Given the description of an element on the screen output the (x, y) to click on. 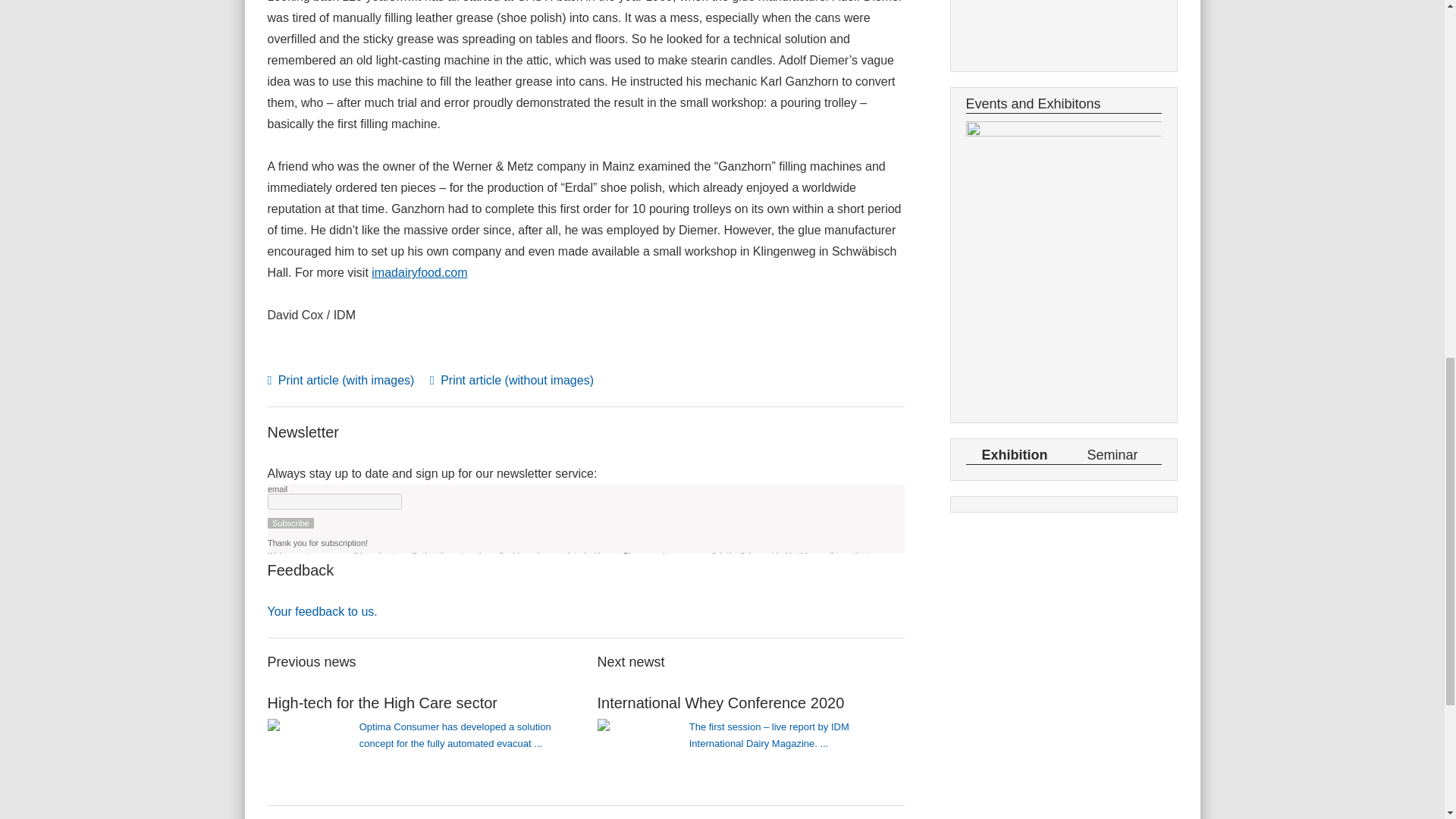
imadairyfood.com (419, 272)
Your feedback to us. (321, 611)
